Given the description of an element on the screen output the (x, y) to click on. 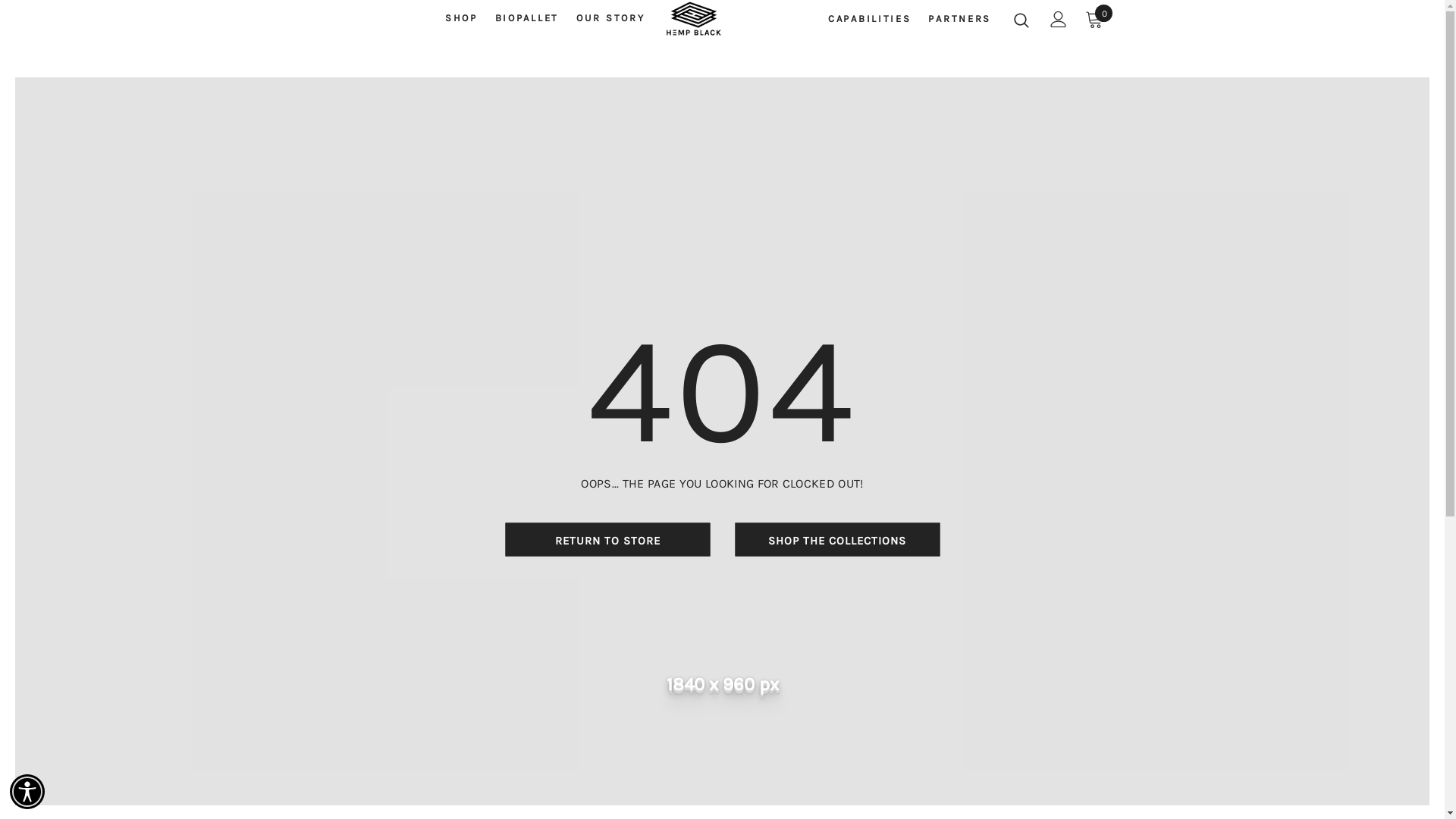
BIOPALLET Element type: text (526, 21)
RETURN TO STORE Element type: text (607, 539)
CAPABILITIES Element type: text (869, 21)
Logo Element type: hover (693, 18)
PARTNERS Element type: text (959, 21)
User Icon Element type: hover (1058, 19)
SHOP Element type: text (461, 21)
OUR STORY Element type: text (610, 21)
SHOP THE COLLECTIONS Element type: text (836, 539)
0 Element type: text (1094, 18)
Search Icon Element type: hover (1021, 19)
